Given the description of an element on the screen output the (x, y) to click on. 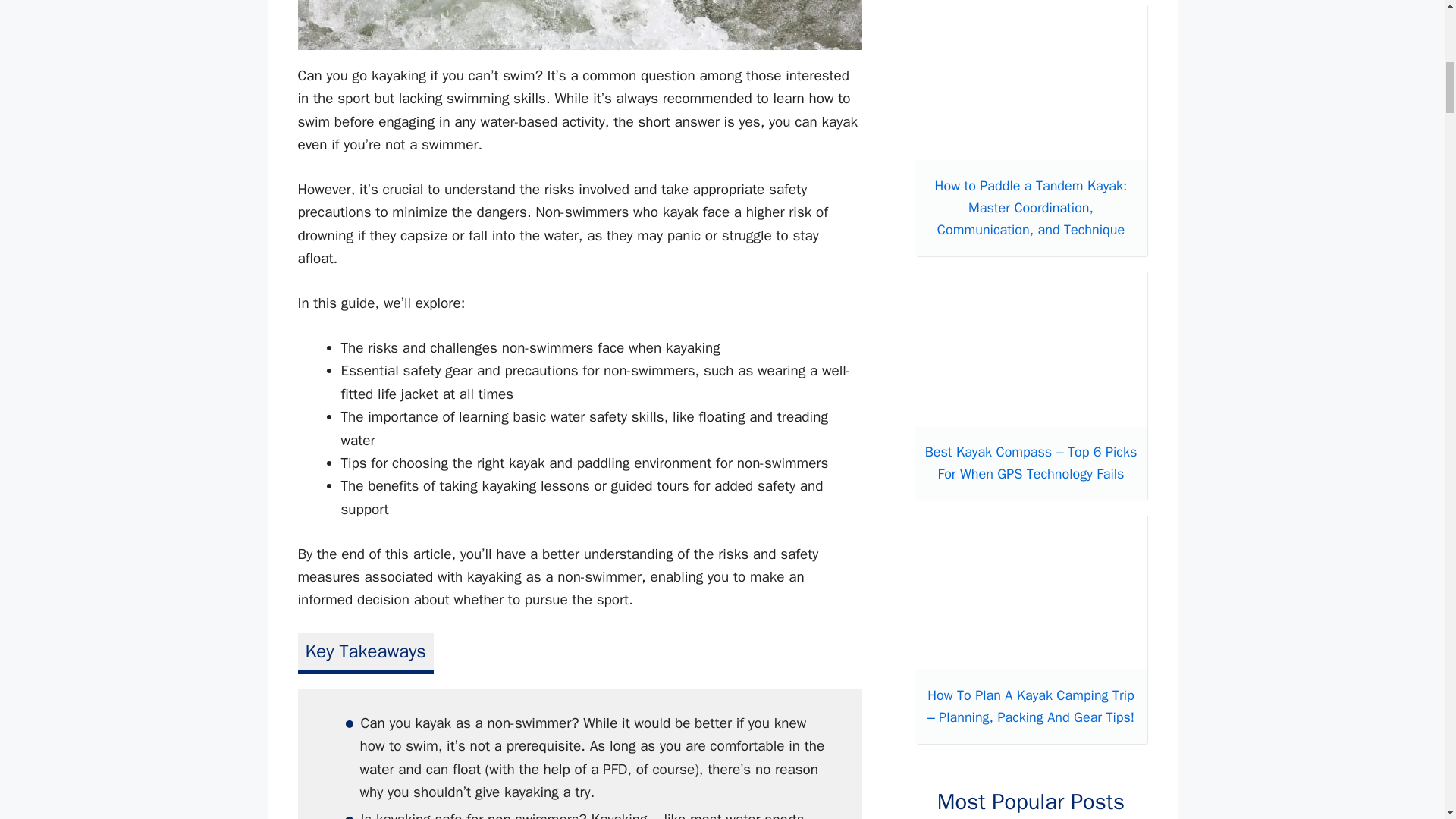
Scroll back to top (1406, 720)
